Given the description of an element on the screen output the (x, y) to click on. 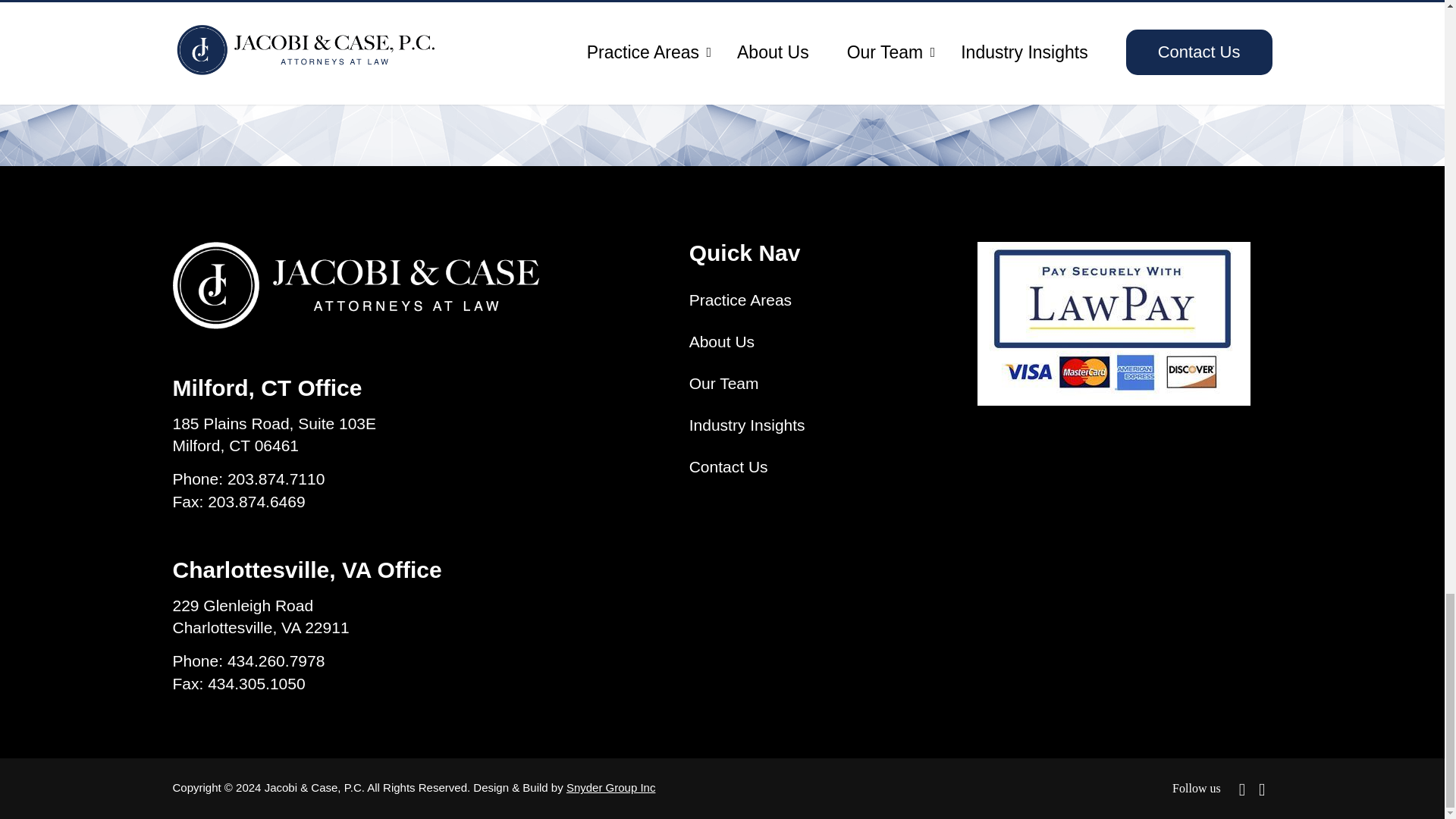
Snyder Group Inc (611, 787)
Phone: 203.874.7110 (248, 479)
Fax: 203.874.6469 (239, 502)
Fax: 434.305.1050 (239, 683)
About Us (721, 341)
Our Team (723, 383)
Practice Areas (740, 299)
Phone: 434.260.7978 (248, 660)
Contact Us (728, 466)
Industry Insights (746, 425)
